Given the description of an element on the screen output the (x, y) to click on. 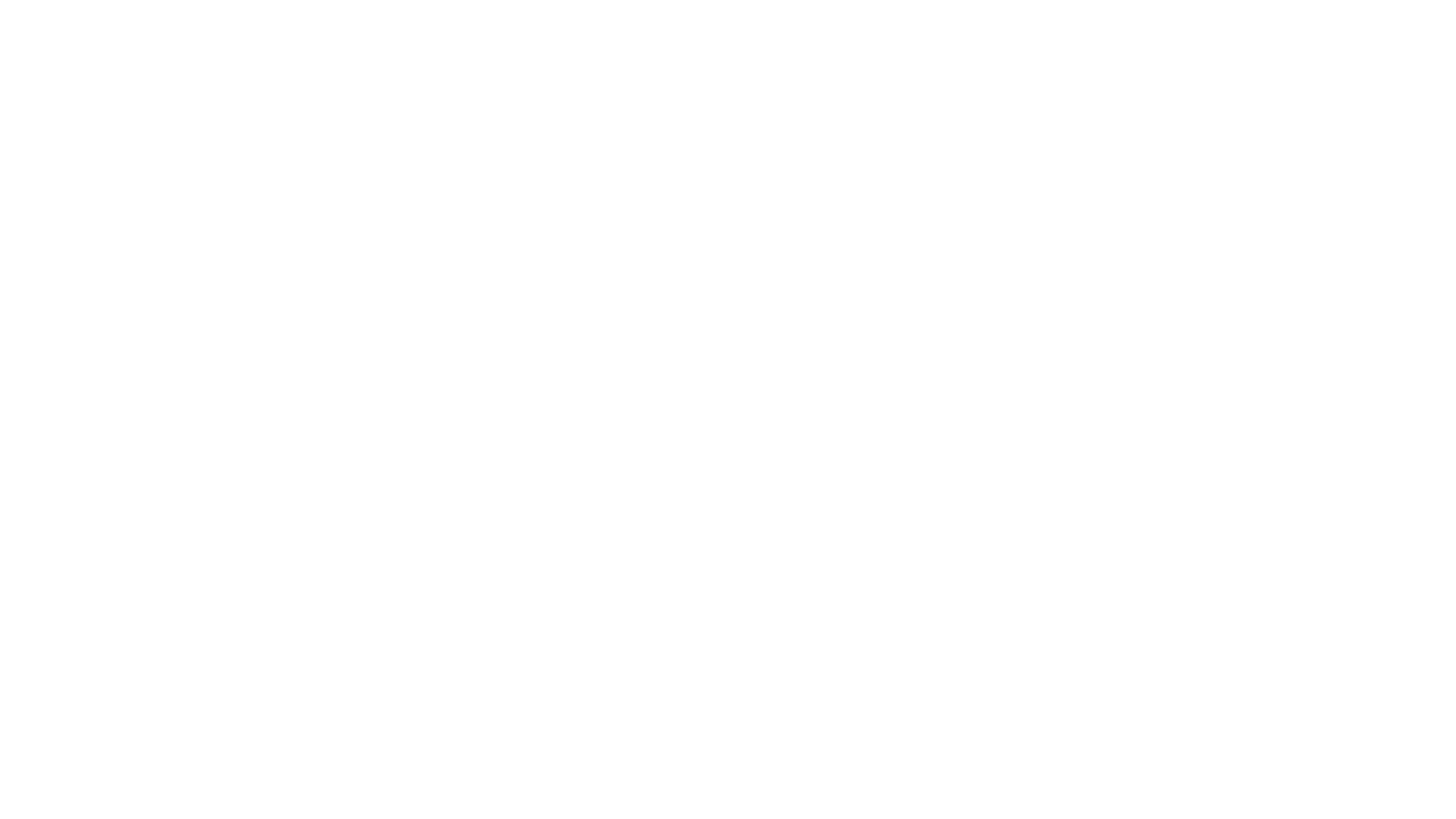
2 Element type: text (735, 278)
1 Element type: text (720, 278)
